Given the description of an element on the screen output the (x, y) to click on. 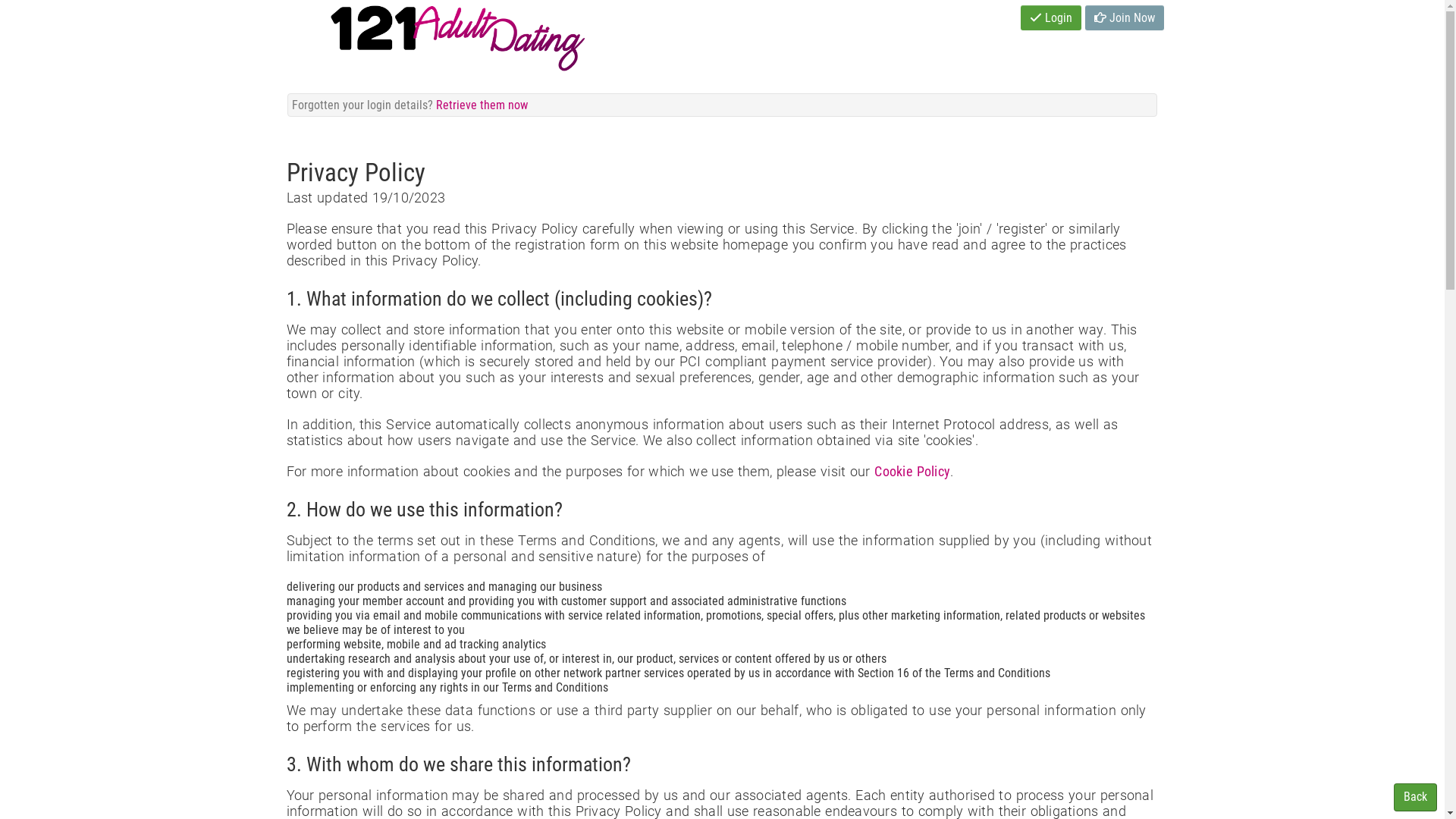
Back Element type: text (1415, 797)
Cookie Policy Element type: text (912, 471)
 Join Now Element type: text (1124, 17)
Retrieve them now Element type: text (481, 104)
 Login Element type: text (1050, 17)
